Given the description of an element on the screen output the (x, y) to click on. 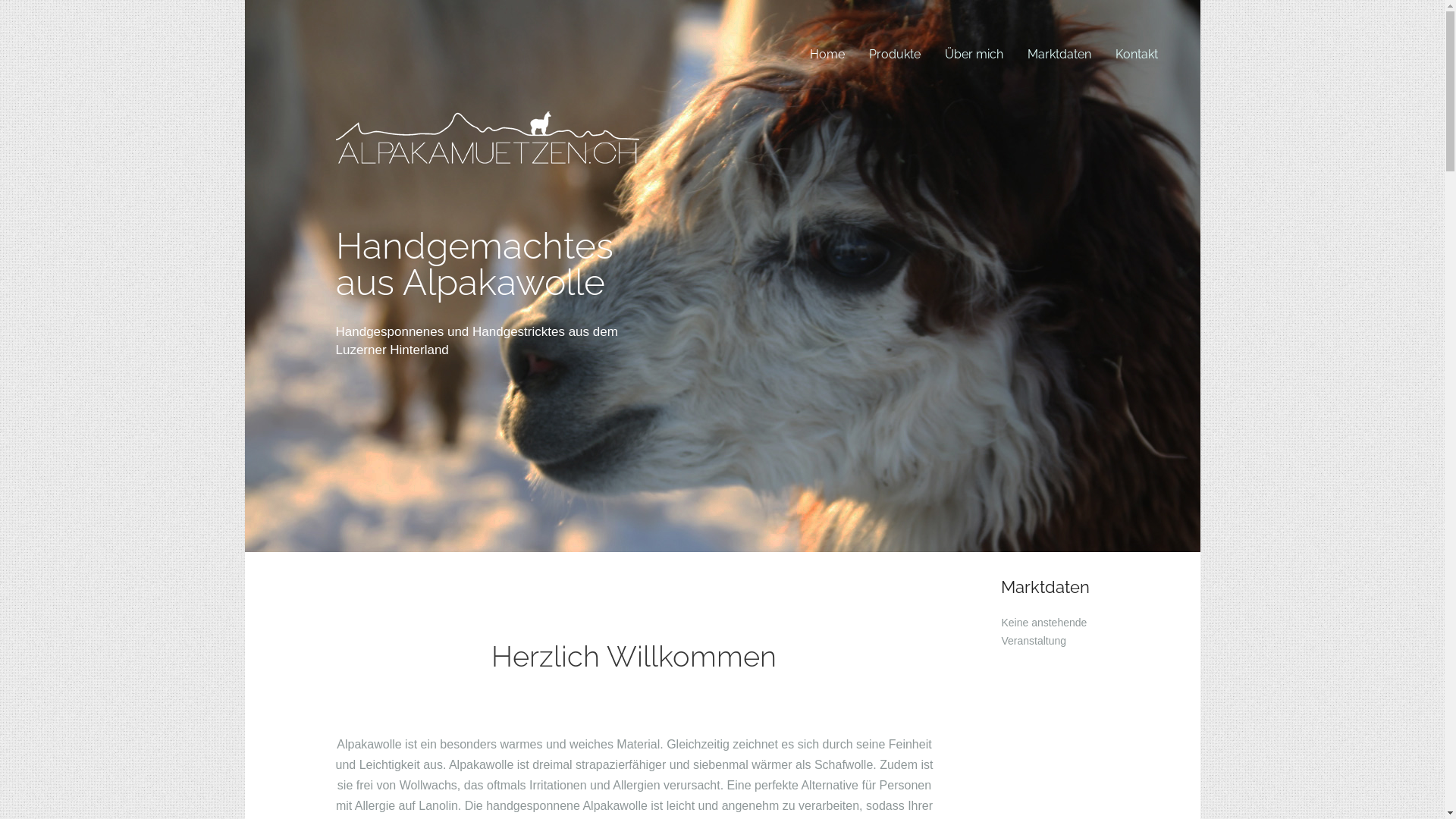
Home Element type: text (826, 53)
Kontakt Element type: text (1135, 53)
Marktdaten Element type: text (1058, 53)
Produkte Element type: text (894, 53)
